Given the description of an element on the screen output the (x, y) to click on. 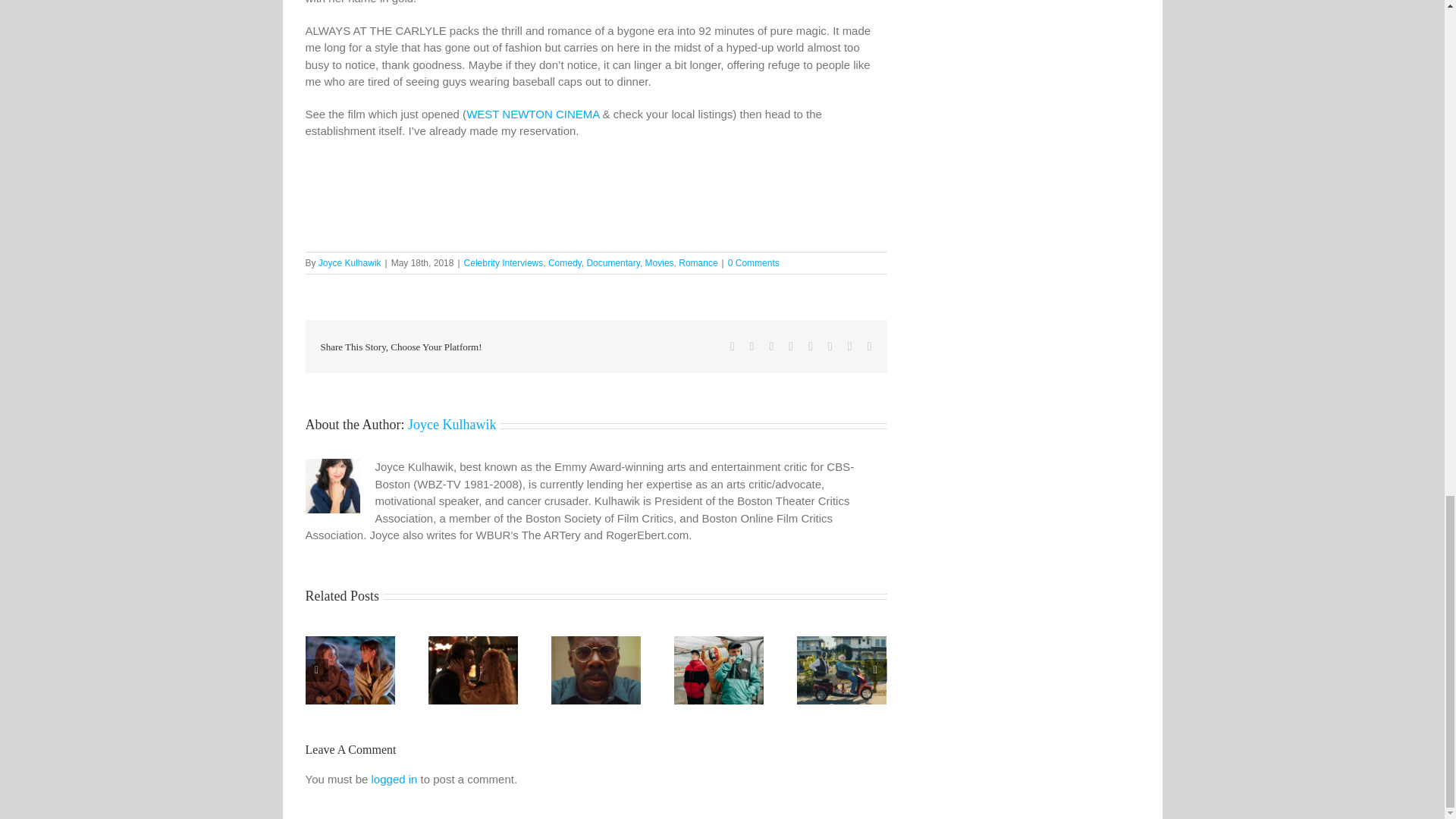
Joyce Kulhawik (349, 262)
0 Comments (753, 262)
WEST NEWTON CINEMA (531, 113)
Posts by Joyce Kulhawik (349, 262)
Celebrity Interviews (503, 262)
Romance (697, 262)
Documentary (612, 262)
Comedy (564, 262)
Posts by Joyce Kulhawik (451, 424)
Movies (659, 262)
